Given the description of an element on the screen output the (x, y) to click on. 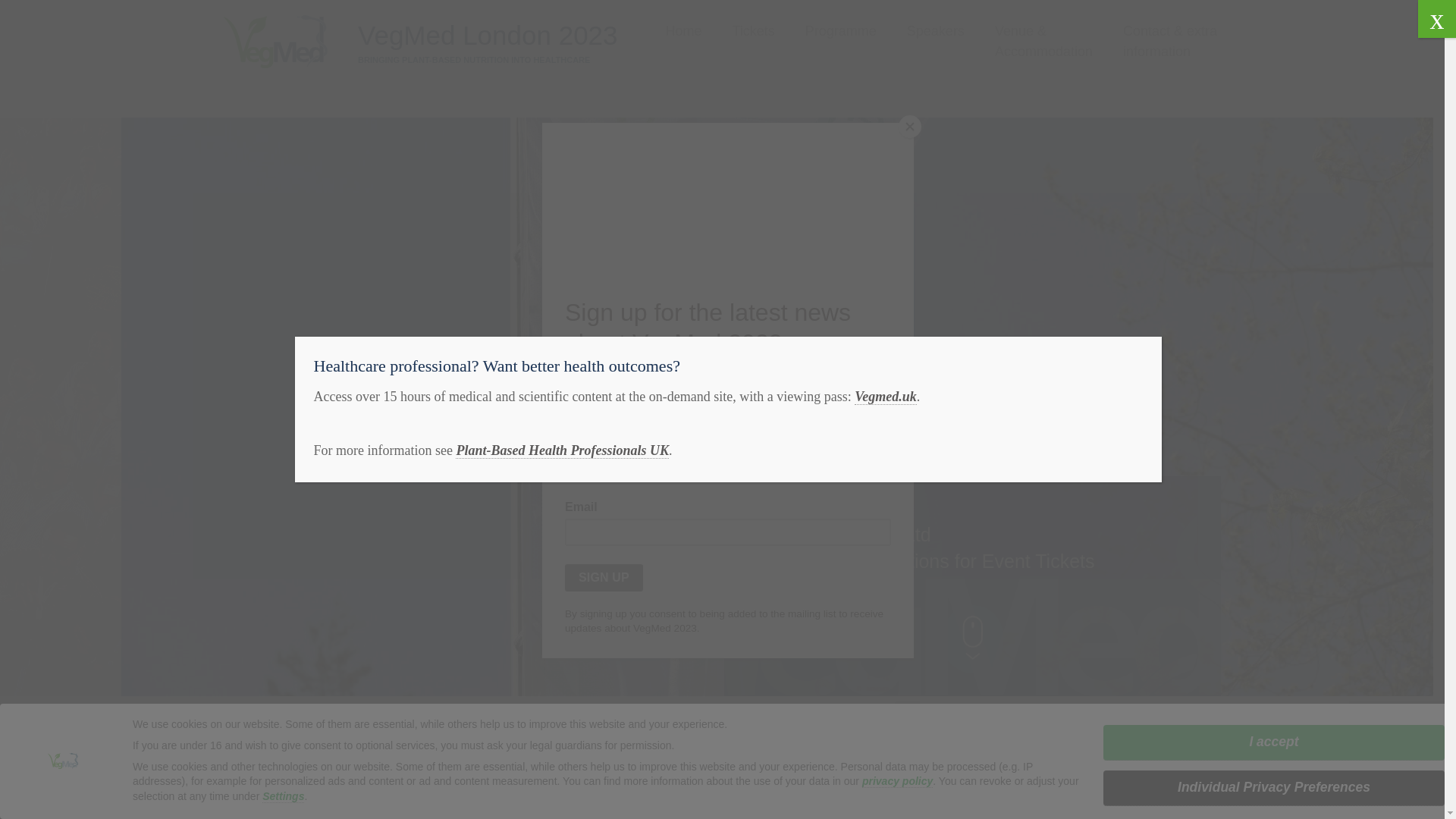
Vegmed.uk (885, 396)
Plant-Based Health Professionals UK (561, 450)
Home (683, 31)
Speakers (935, 31)
privacy policy (897, 780)
Tickets (753, 31)
Programme (840, 31)
